Given the description of an element on the screen output the (x, y) to click on. 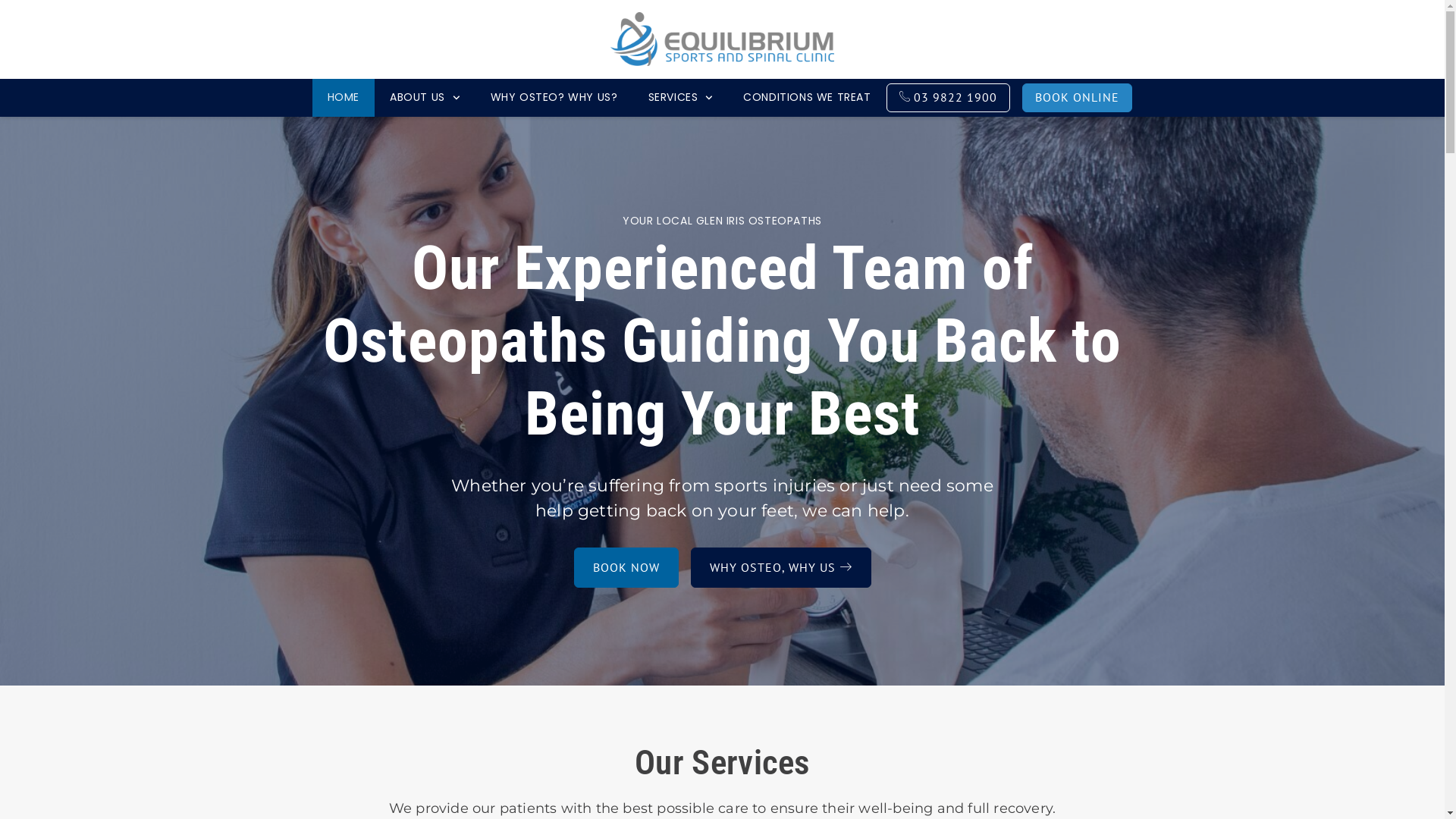
SERVICES Element type: text (680, 97)
ABOUT US Element type: text (424, 97)
BOOK NOW Element type: text (625, 567)
CONDITIONS WE TREAT Element type: text (806, 97)
HOME Element type: text (343, 97)
BOOK ONLINE Element type: text (1077, 97)
WHY OSTEO? WHY US? Element type: text (554, 97)
WHY OSTEO, WHY US Element type: text (780, 567)
03 9822 1900 Element type: text (948, 97)
